Given the description of an element on the screen output the (x, y) to click on. 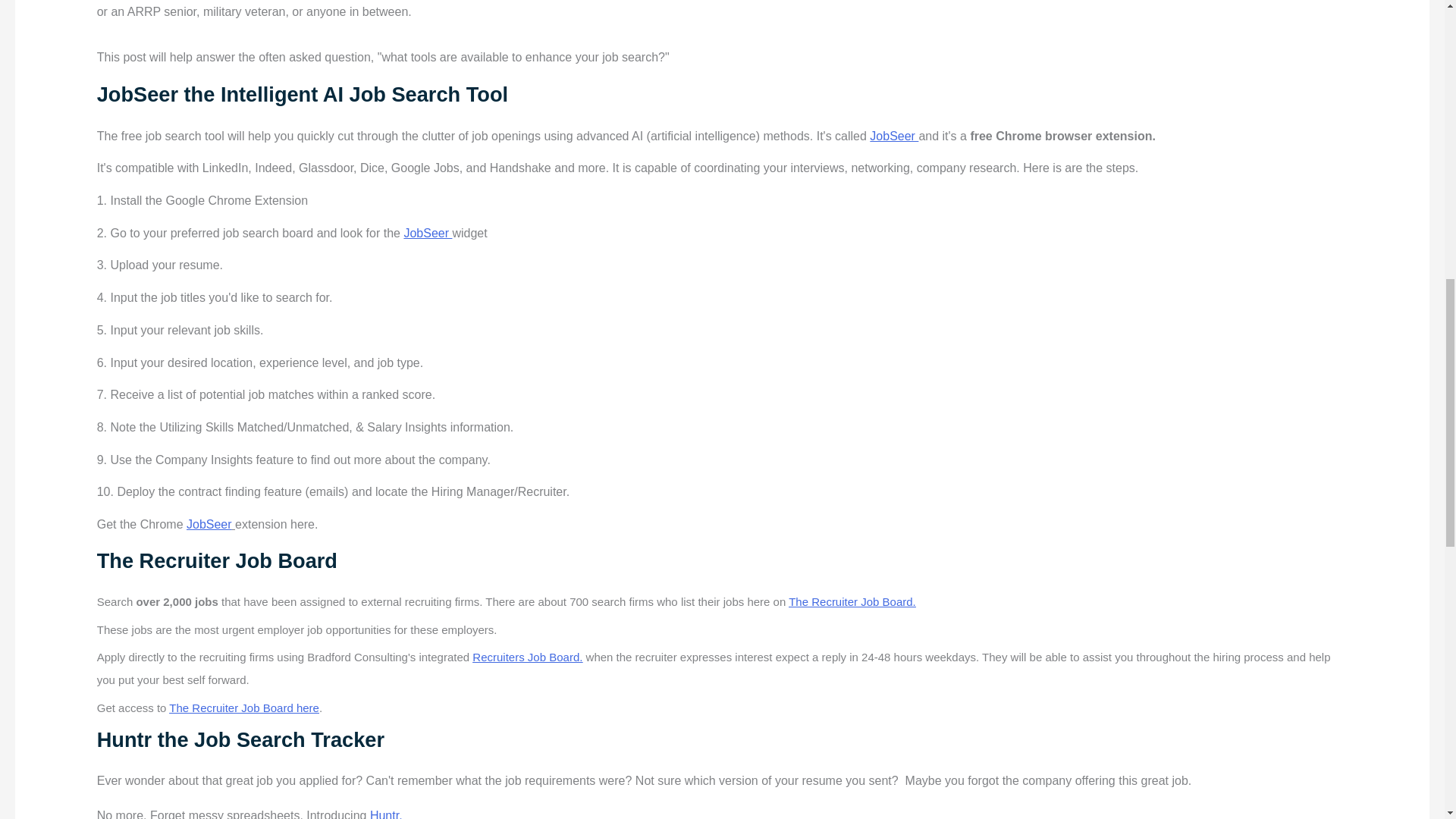
JobSeer (427, 232)
JobSeer (208, 523)
JobSeer  (893, 135)
